Given the description of an element on the screen output the (x, y) to click on. 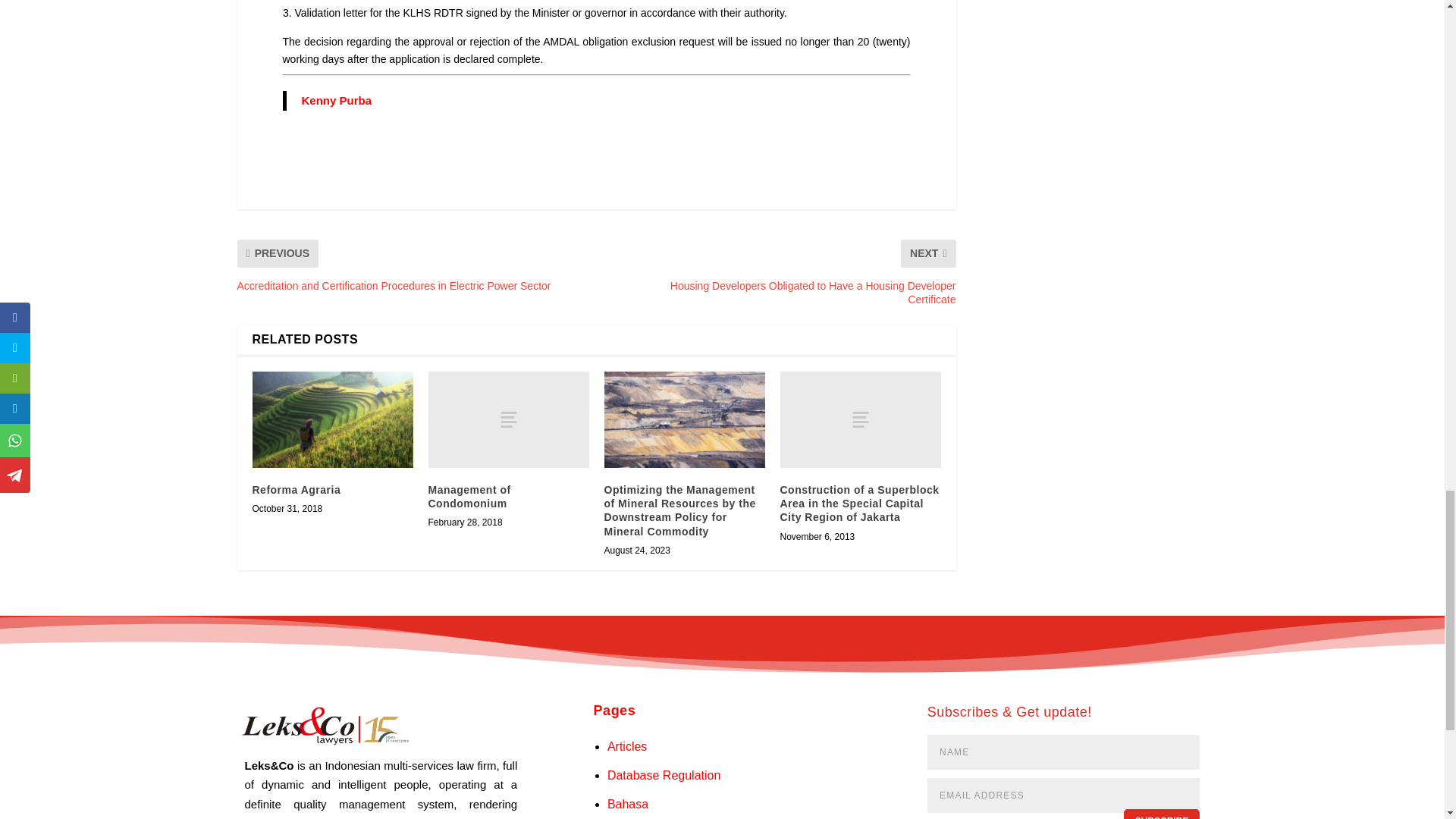
LeksnCo 15th (321, 724)
Reforma Agraria (331, 419)
Management of Condomonium (508, 419)
